Given the description of an element on the screen output the (x, y) to click on. 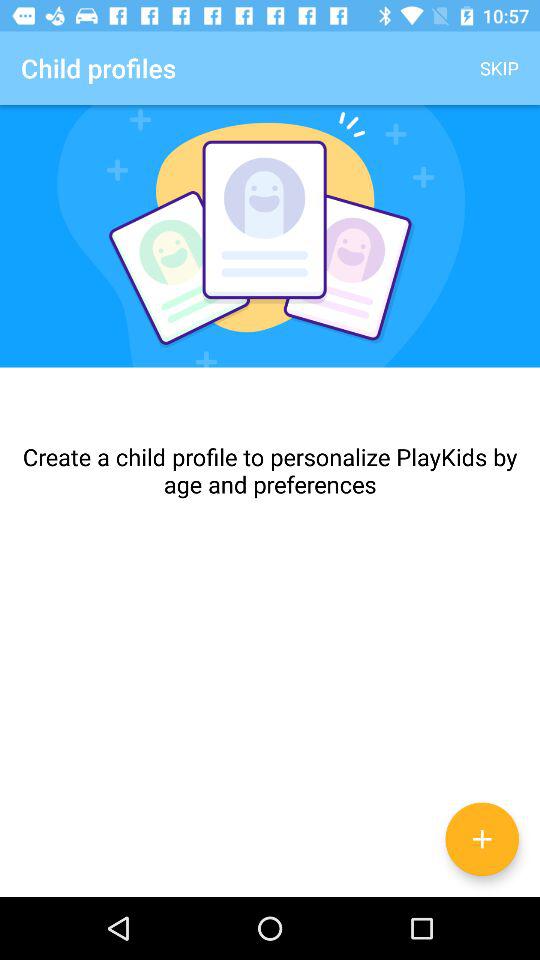
turn off the skip icon (499, 67)
